Given the description of an element on the screen output the (x, y) to click on. 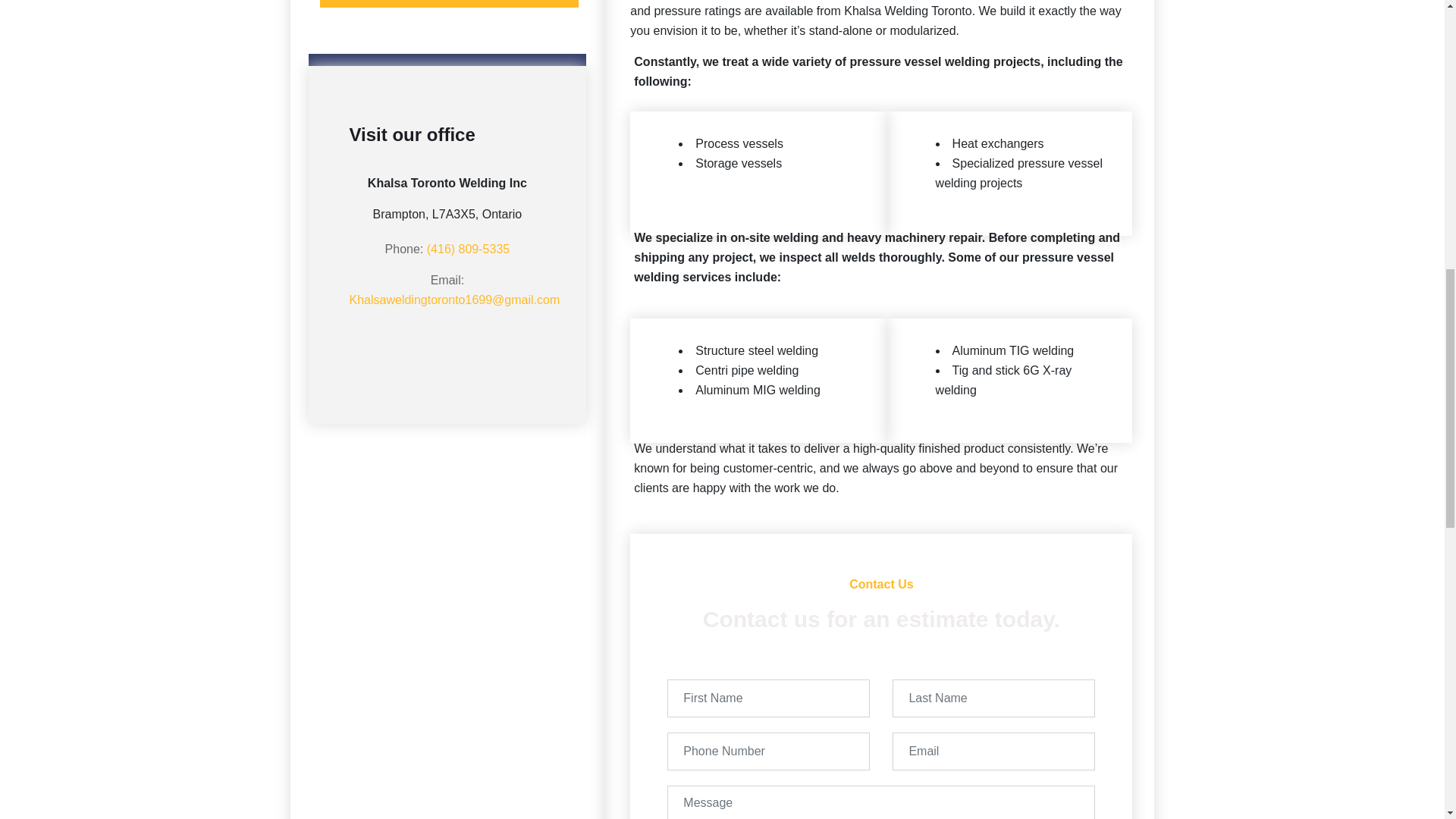
Pressure Vessels (449, 3)
